Given the description of an element on the screen output the (x, y) to click on. 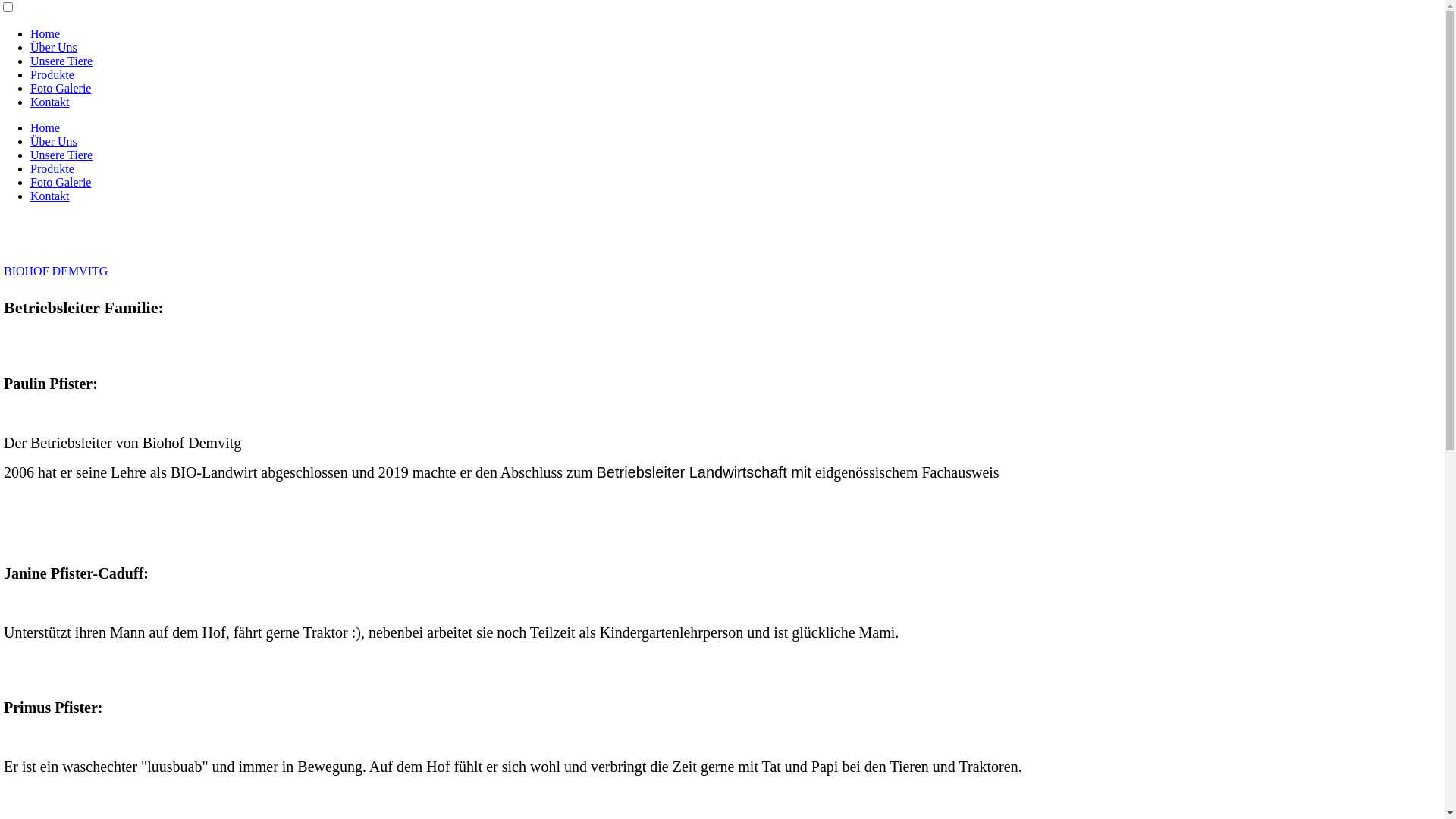
Home Element type: text (44, 127)
Kontakt Element type: text (49, 101)
BIOHOF DEMVITG Element type: text (55, 270)
Produkte Element type: text (52, 74)
Unsere Tiere Element type: text (61, 60)
Foto Galerie Element type: text (60, 87)
Unsere Tiere Element type: text (61, 154)
Kontakt Element type: text (49, 195)
Home Element type: text (44, 33)
Foto Galerie Element type: text (60, 181)
Produkte Element type: text (52, 168)
